Given the description of an element on the screen output the (x, y) to click on. 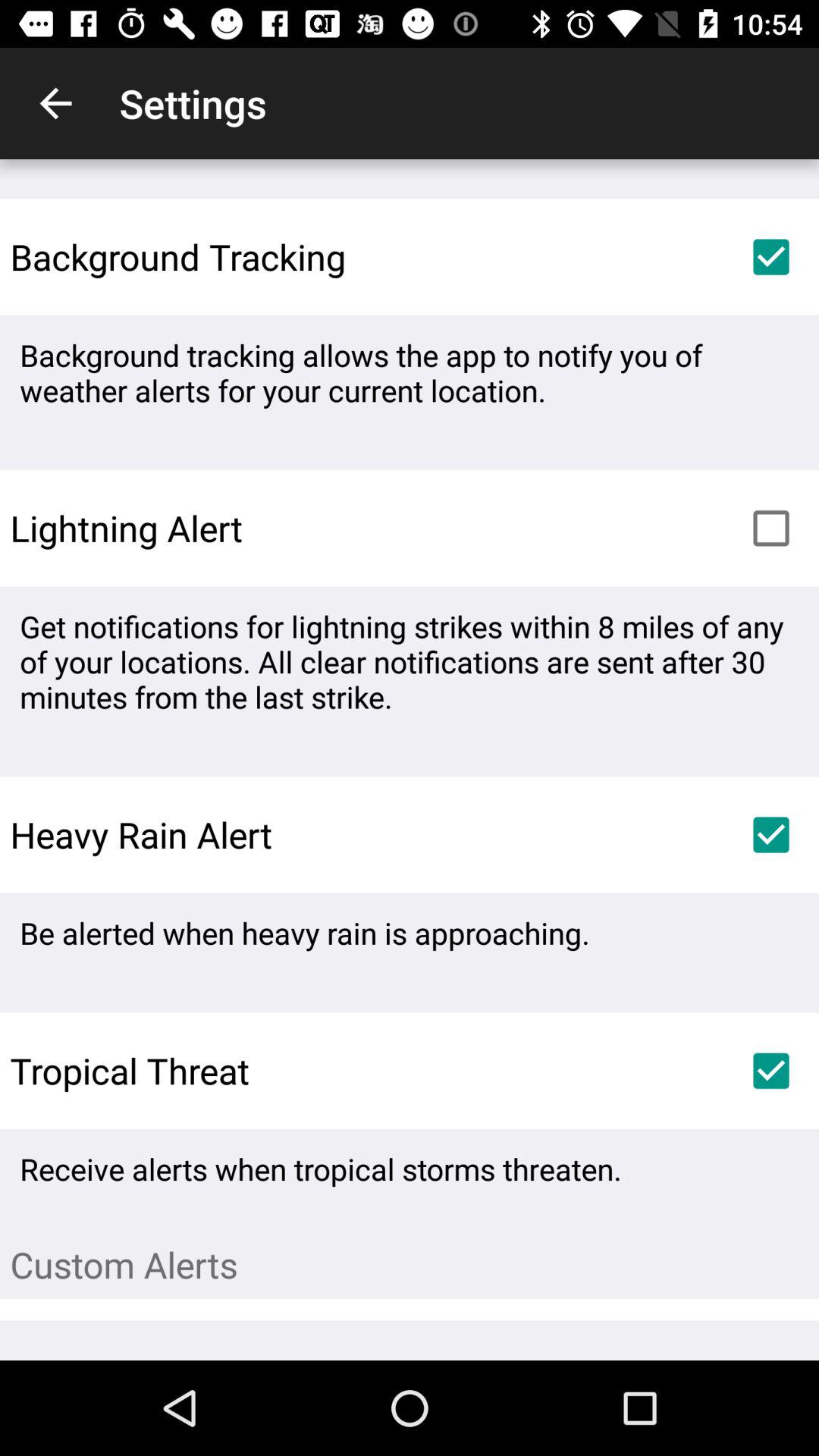
select item above background tracking allows icon (771, 256)
